Given the description of an element on the screen output the (x, y) to click on. 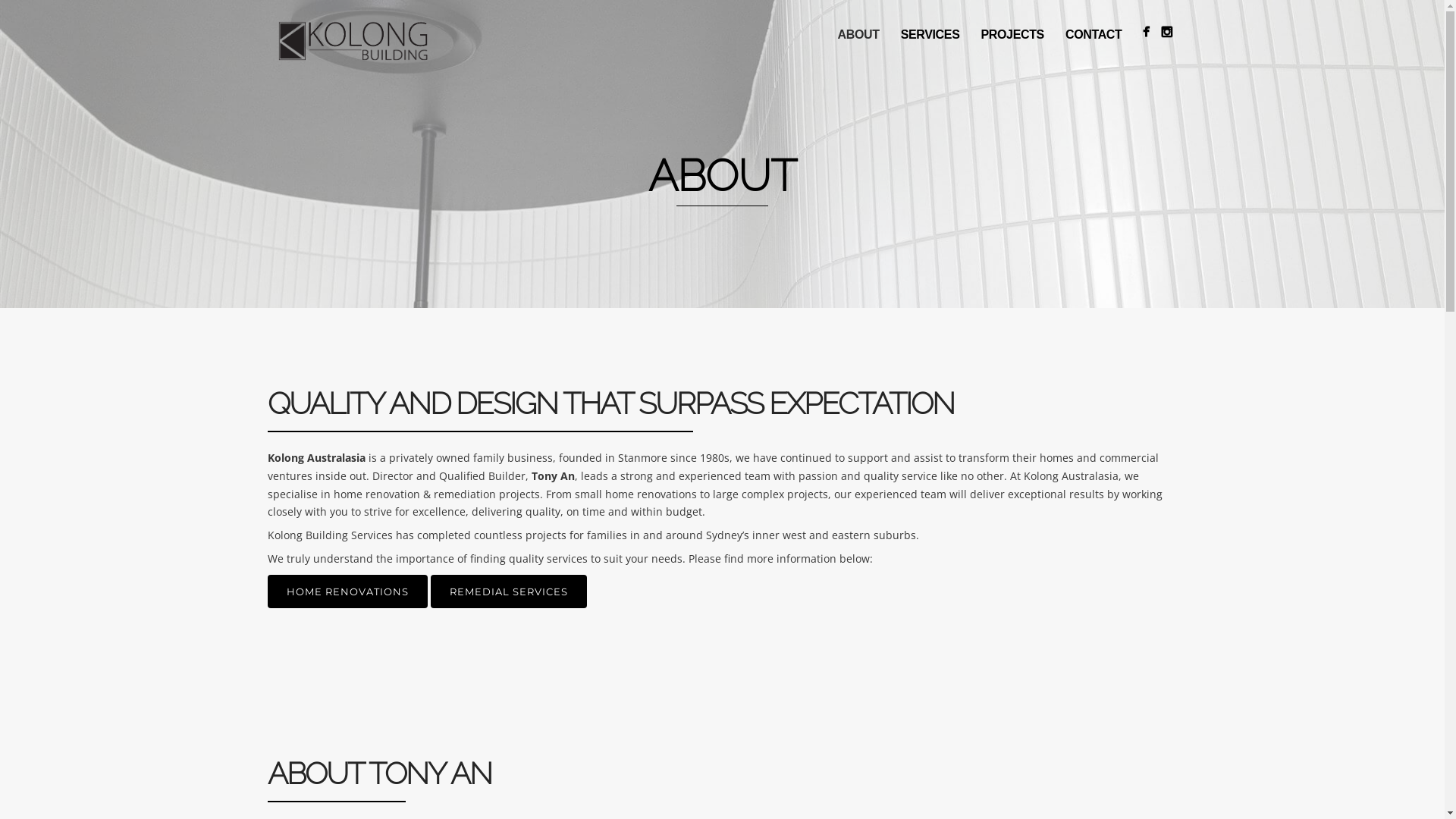
ABOUT Element type: text (857, 34)
SERVICES Element type: text (930, 34)
Facebook Element type: hover (1144, 30)
HOME RENOVATIONS Element type: text (346, 591)
CONTACT Element type: text (1093, 34)
REMEDIAL SERVICES Element type: text (508, 591)
PROJECTS Element type: text (1011, 34)
